Given the description of an element on the screen output the (x, y) to click on. 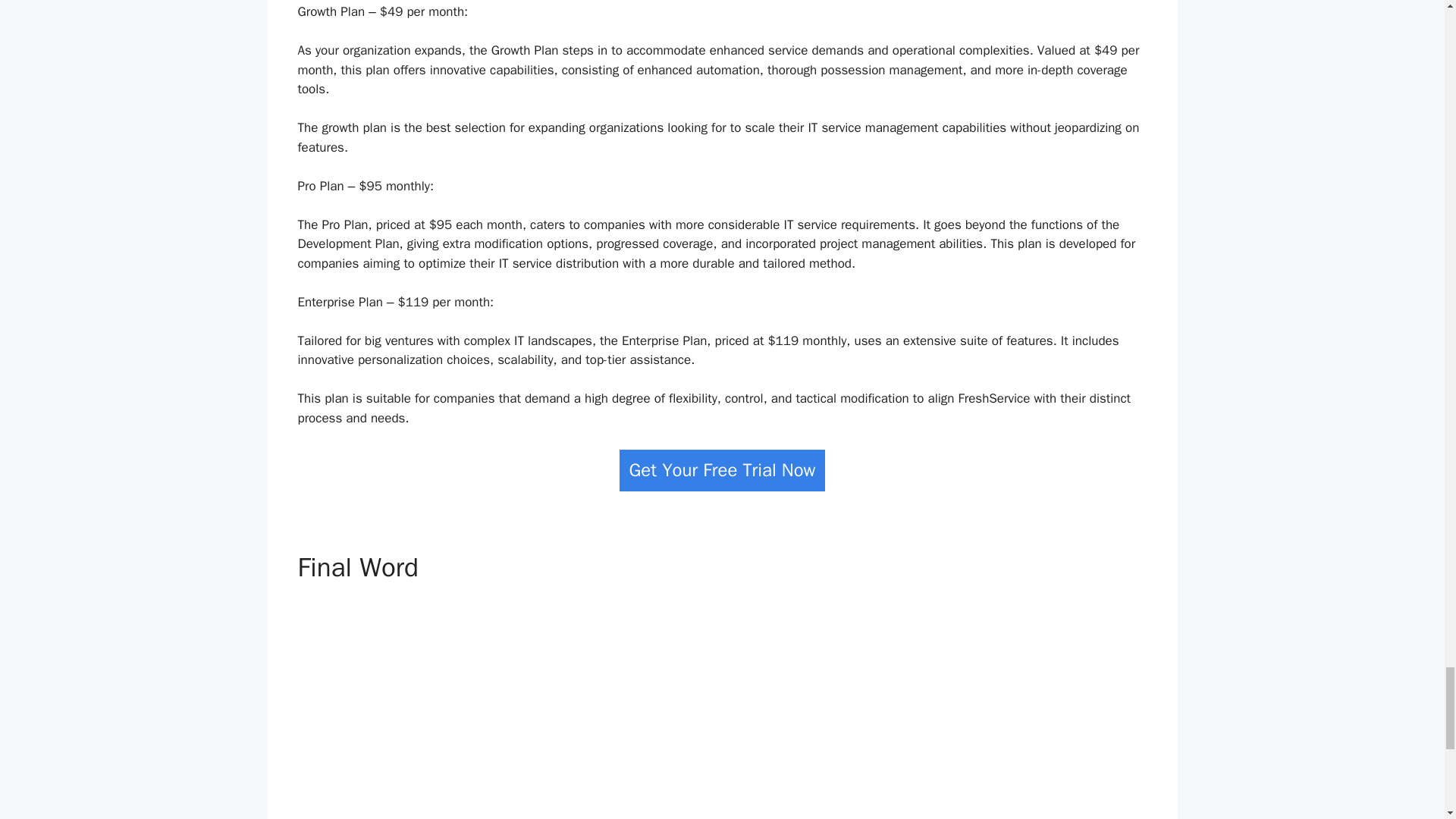
Get Your Free Trial Now (722, 470)
